Given the description of an element on the screen output the (x, y) to click on. 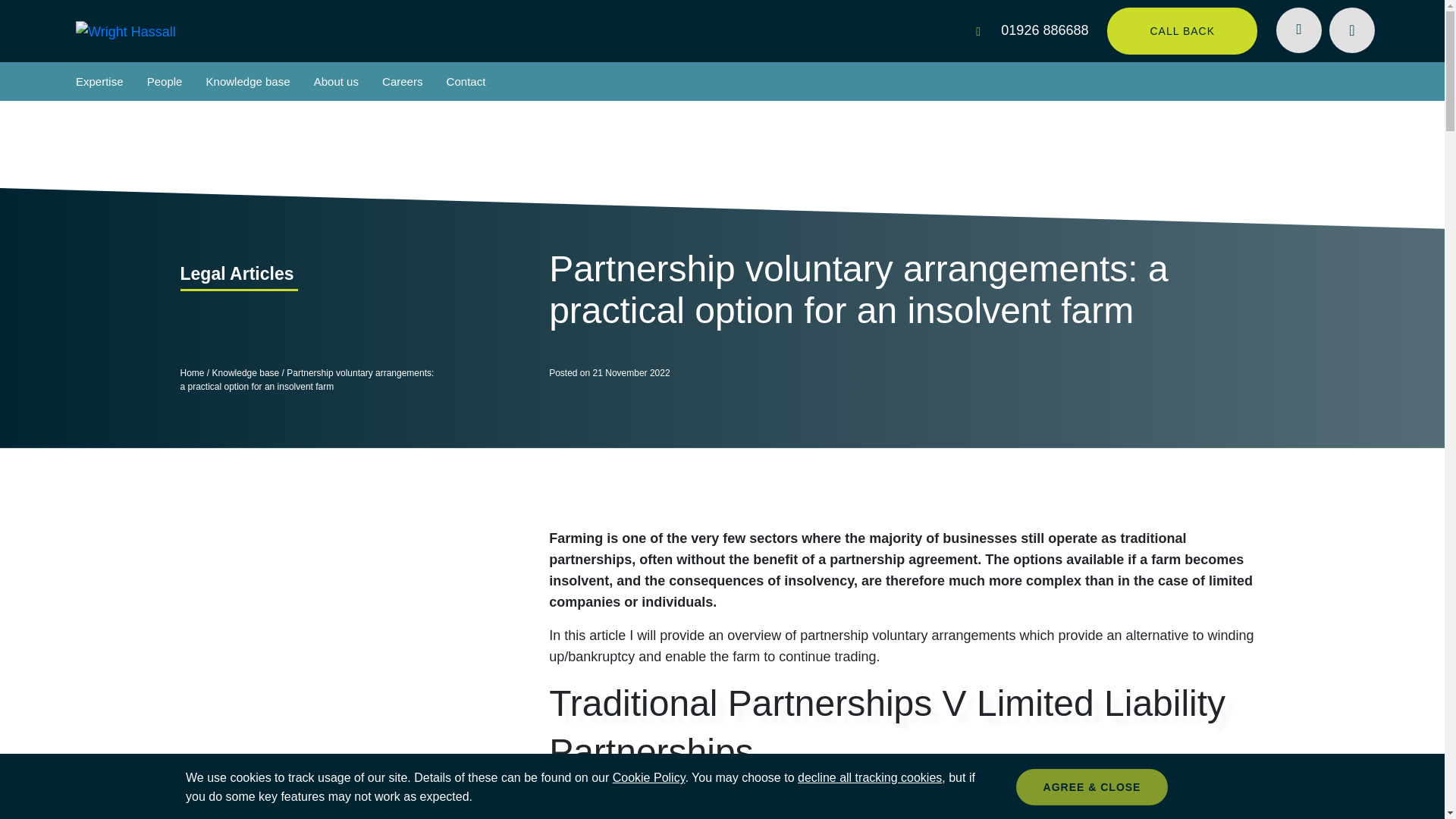
Expertise (99, 81)
CALL BACK (1181, 30)
Privacy policy (648, 777)
